Given the description of an element on the screen output the (x, y) to click on. 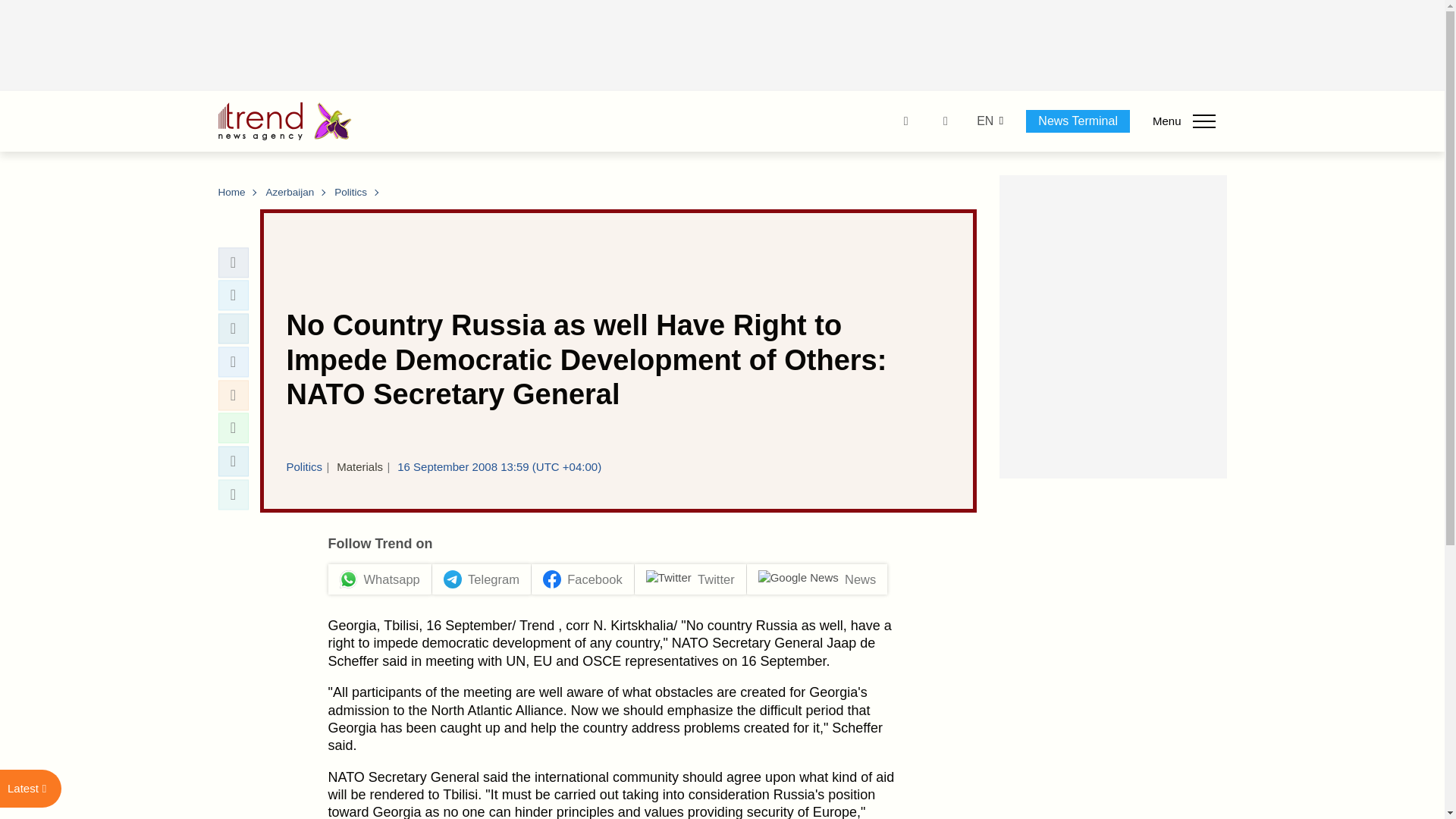
English (984, 121)
EN (984, 121)
News Terminal (1077, 120)
